Given the description of an element on the screen output the (x, y) to click on. 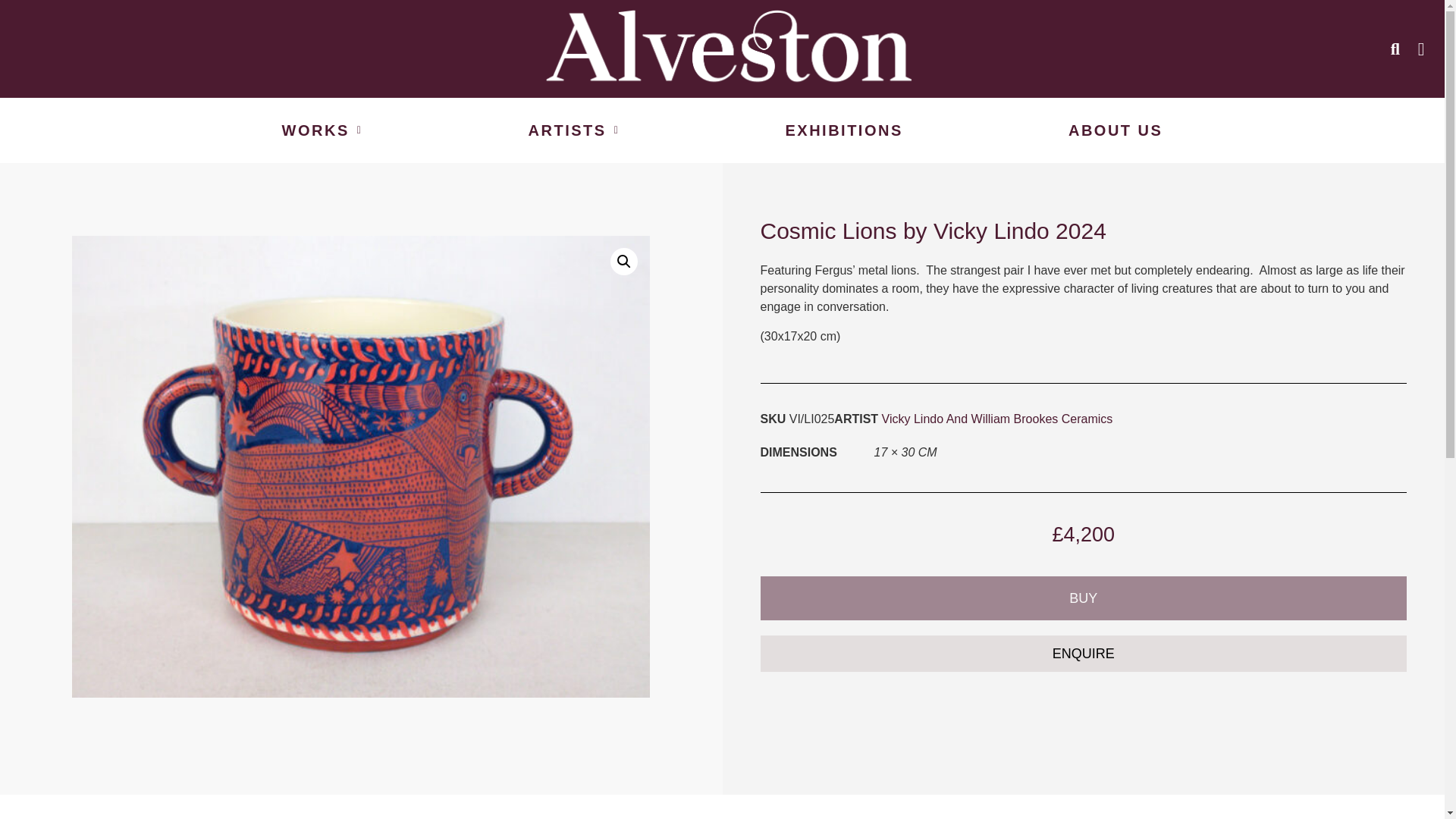
EXHIBITIONS (843, 130)
WORKS (321, 130)
ARTISTS (573, 130)
ABOUT US (1115, 130)
